Given the description of an element on the screen output the (x, y) to click on. 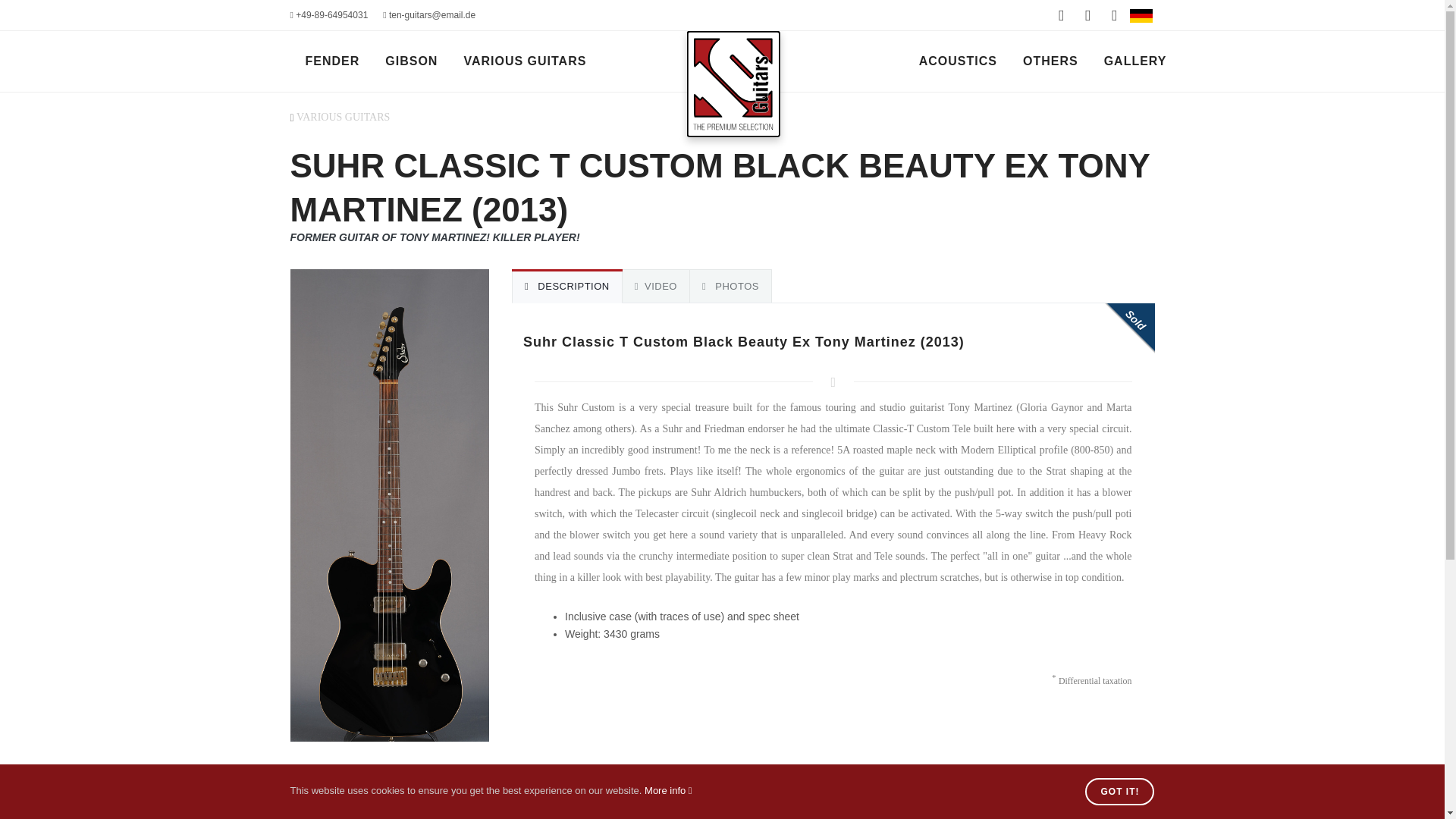
GALLERY (1135, 60)
DESCRIPTION (567, 286)
ACOUSTICS (957, 60)
VARIOUS GUITARS (343, 116)
GIBSON (411, 60)
PHOTOS (729, 286)
OTHERS (1050, 60)
VARIOUS GUITARS (524, 60)
VIDEO (655, 286)
FENDER (331, 60)
